Given the description of an element on the screen output the (x, y) to click on. 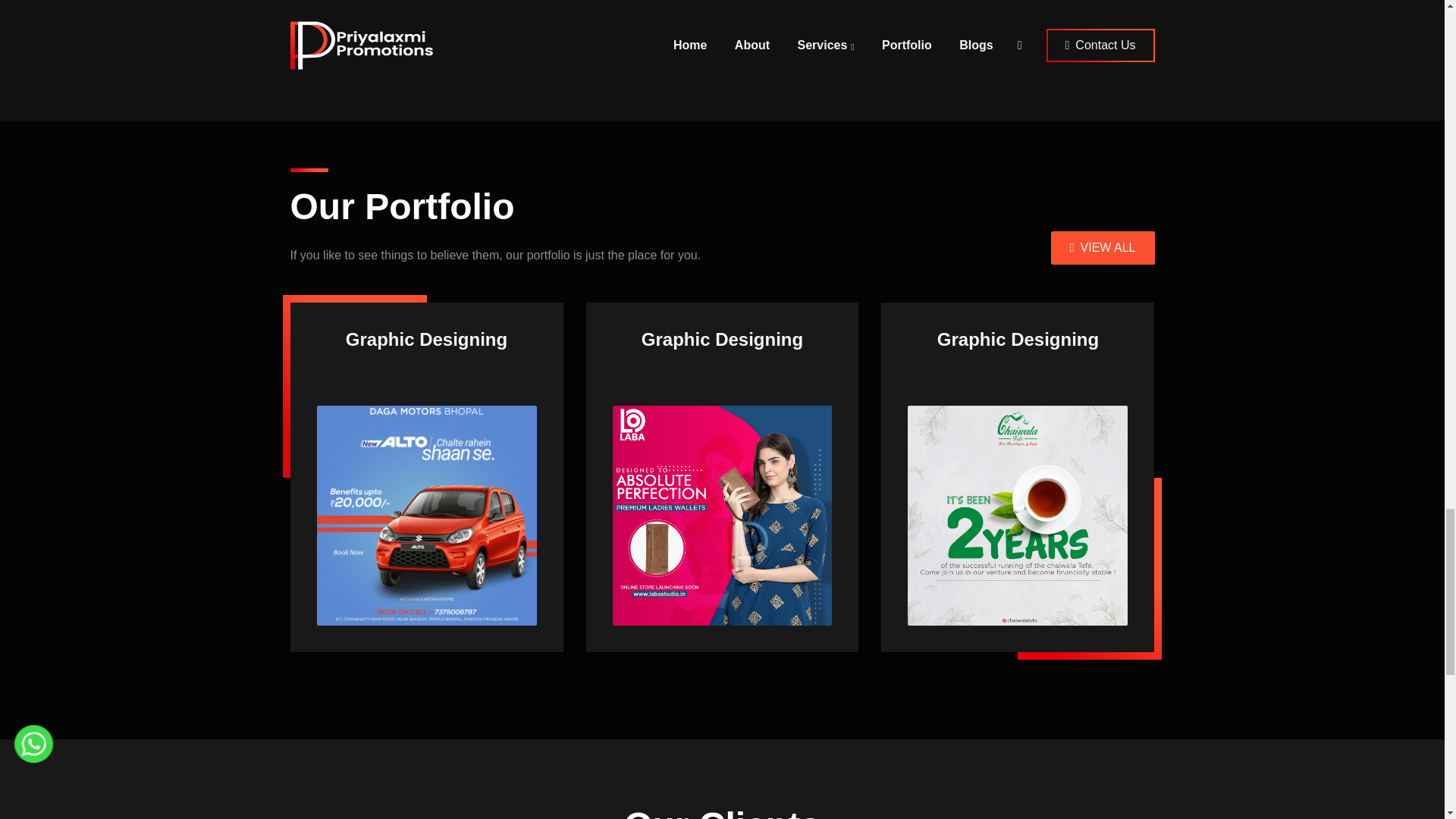
VIEW ALL (1102, 247)
